Given the description of an element on the screen output the (x, y) to click on. 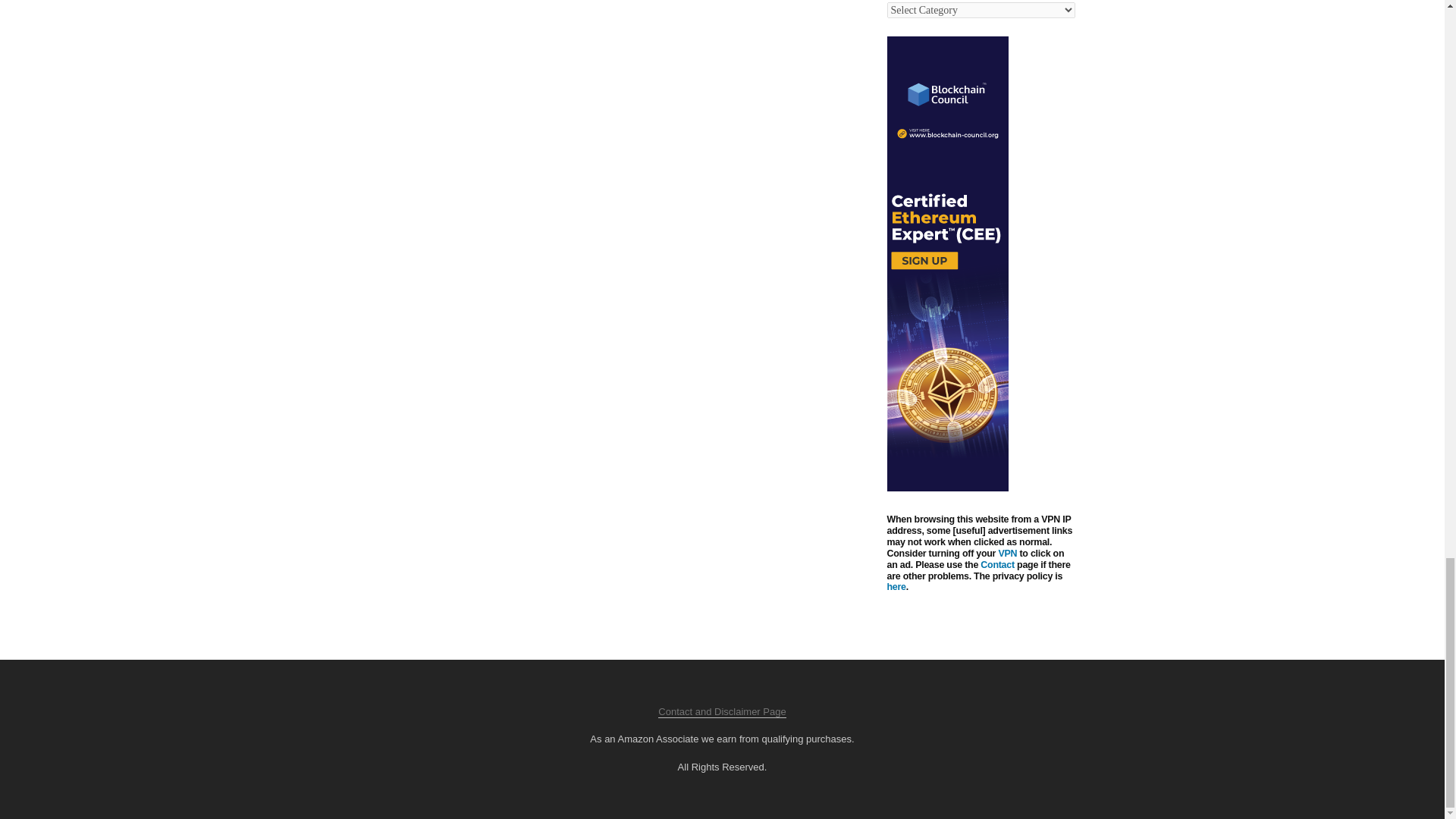
Certified Ethereum Expert (947, 487)
VPN (1006, 552)
here (895, 586)
Contact and Disclaimer Page (722, 711)
Contact (996, 564)
